Given the description of an element on the screen output the (x, y) to click on. 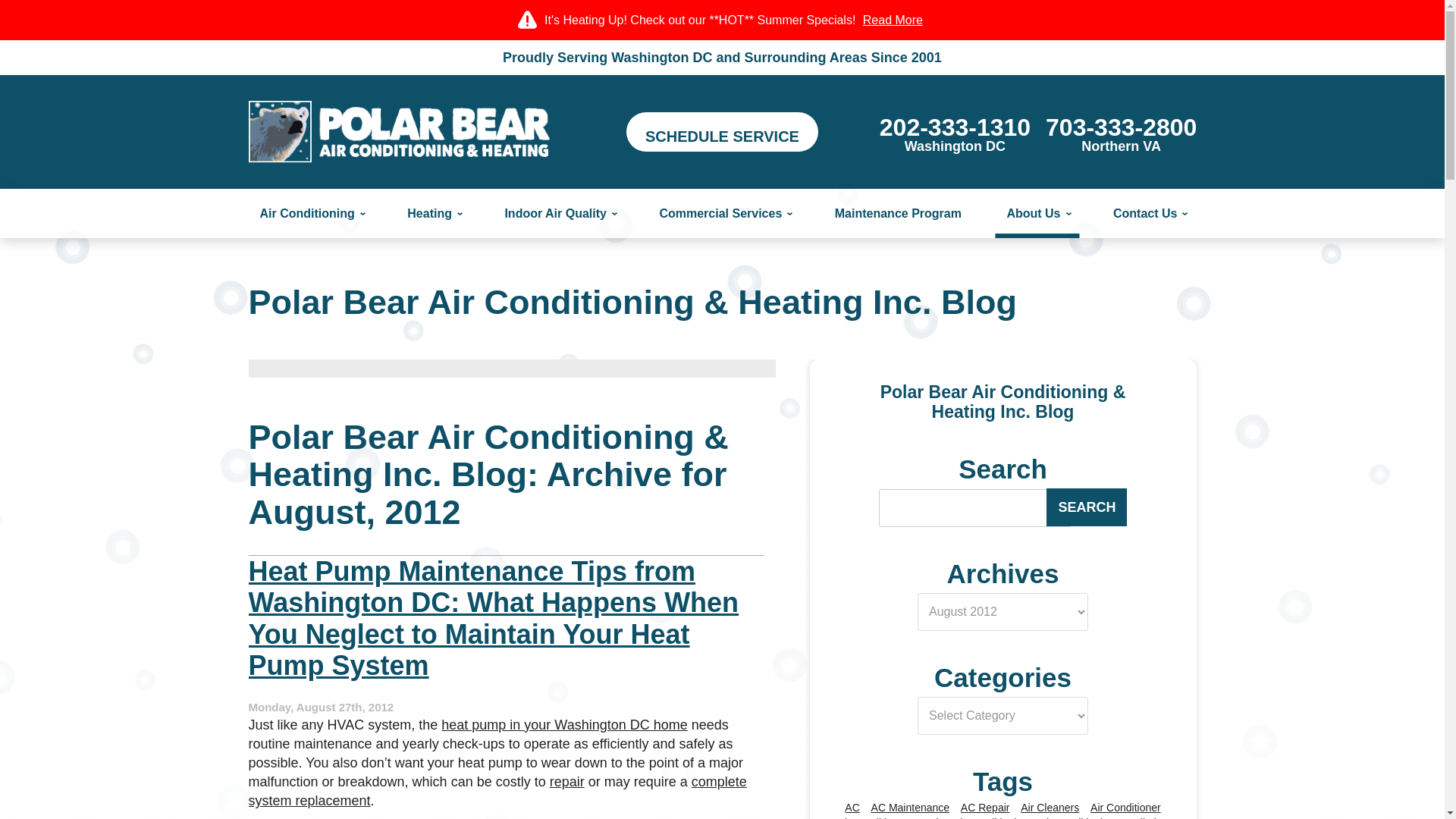
Heating (433, 213)
Indoor Air Quality (559, 213)
SCHEDULE SERVICE (722, 131)
Air Conditioning (311, 213)
Read More (1120, 134)
